Given the description of an element on the screen output the (x, y) to click on. 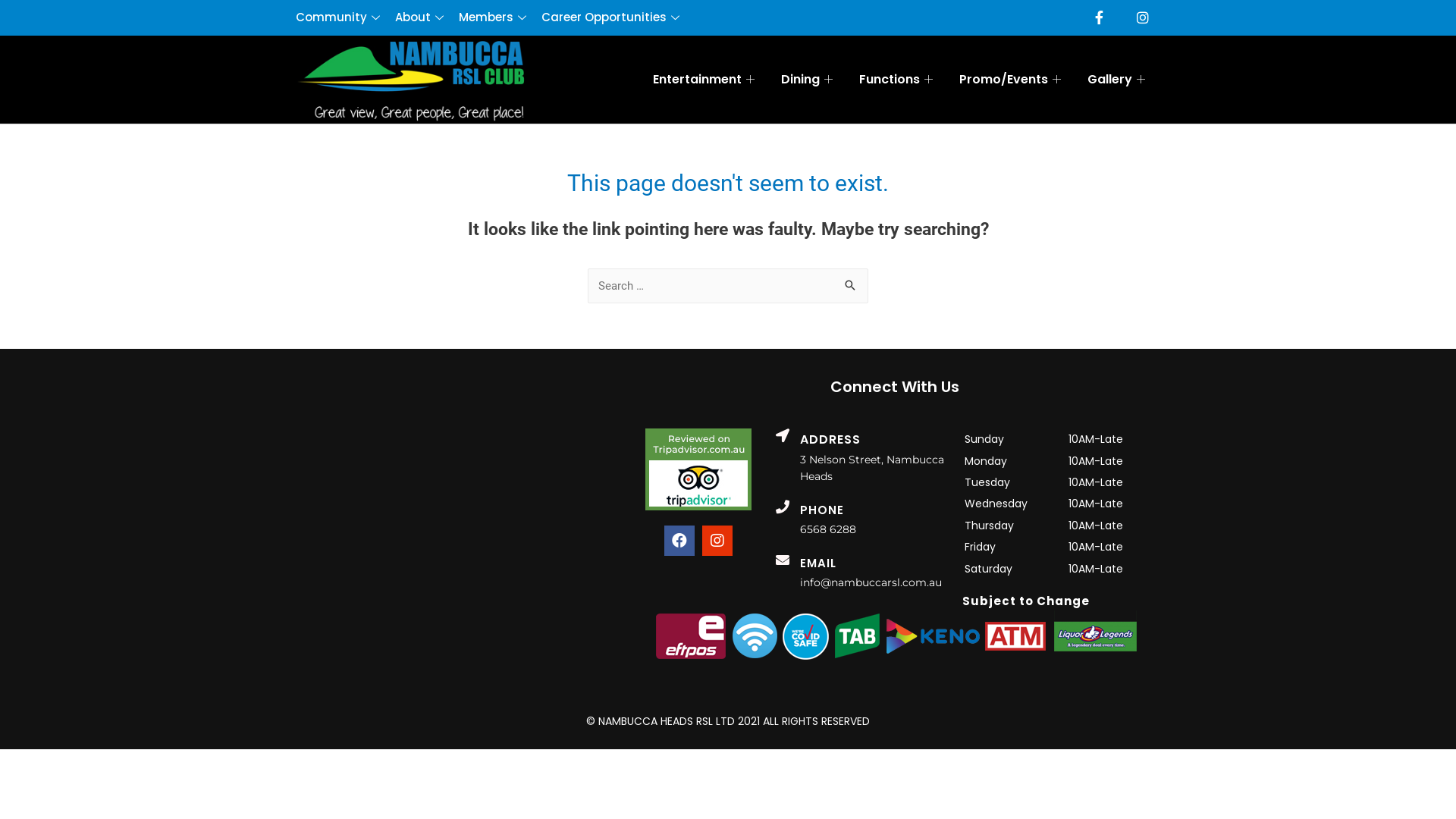
Members Element type: text (499, 17)
Functions Element type: text (897, 79)
Entertainment Element type: text (705, 79)
Community Element type: text (345, 17)
About Element type: text (426, 17)
Gallery Element type: text (1118, 79)
Career Opportunities Element type: text (617, 17)
Promo/Events Element type: text (1011, 79)
Dining Element type: text (808, 79)
Search Element type: text (851, 283)
